Given the description of an element on the screen output the (x, y) to click on. 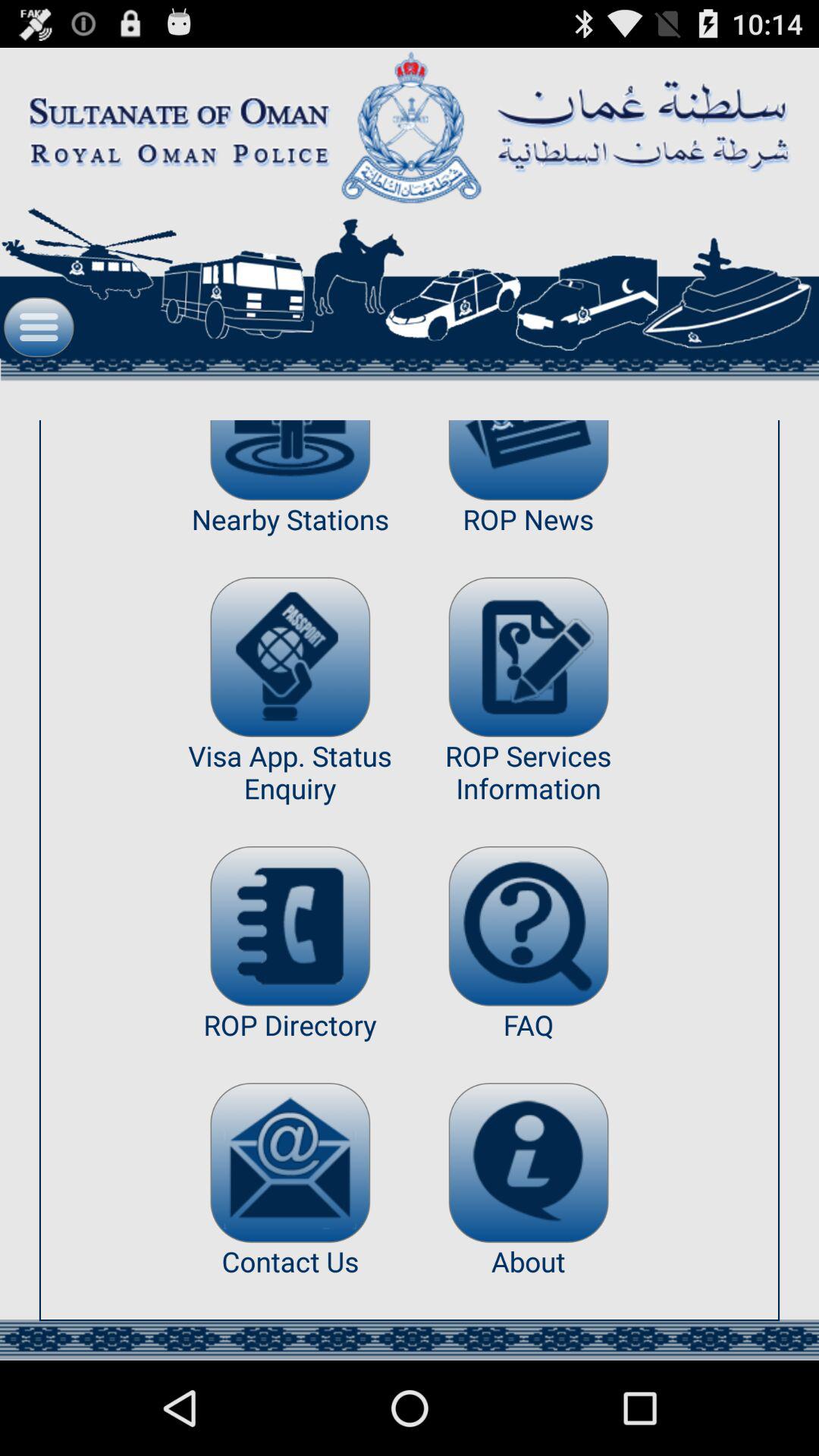
go to rop news (528, 460)
